Given the description of an element on the screen output the (x, y) to click on. 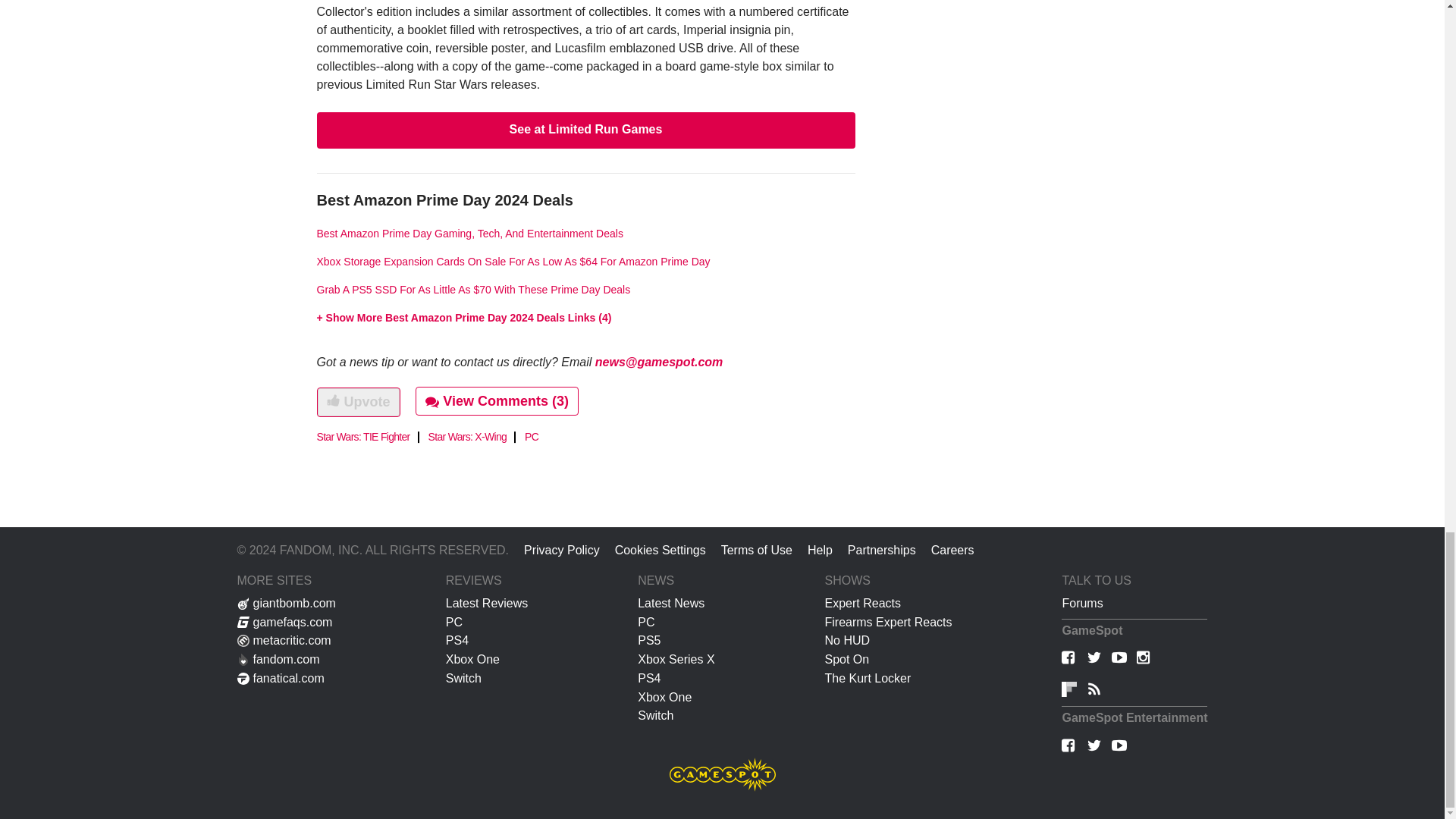
RSS Feeds (1094, 691)
